Given the description of an element on the screen output the (x, y) to click on. 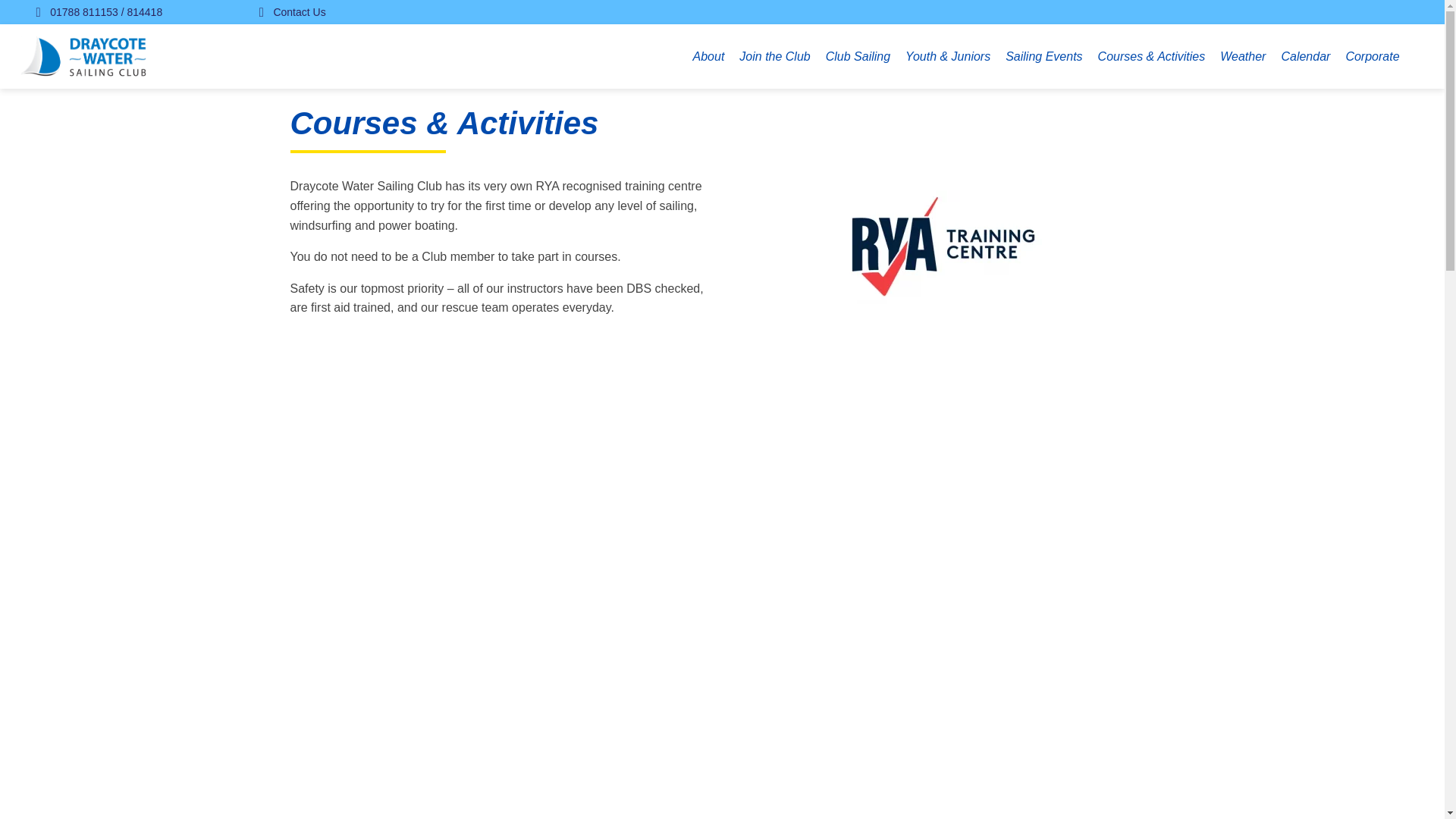
Club Sailing (858, 56)
Join the Club (774, 56)
Contact Us (289, 12)
About (708, 56)
Sailing Events (1043, 56)
